Given the description of an element on the screen output the (x, y) to click on. 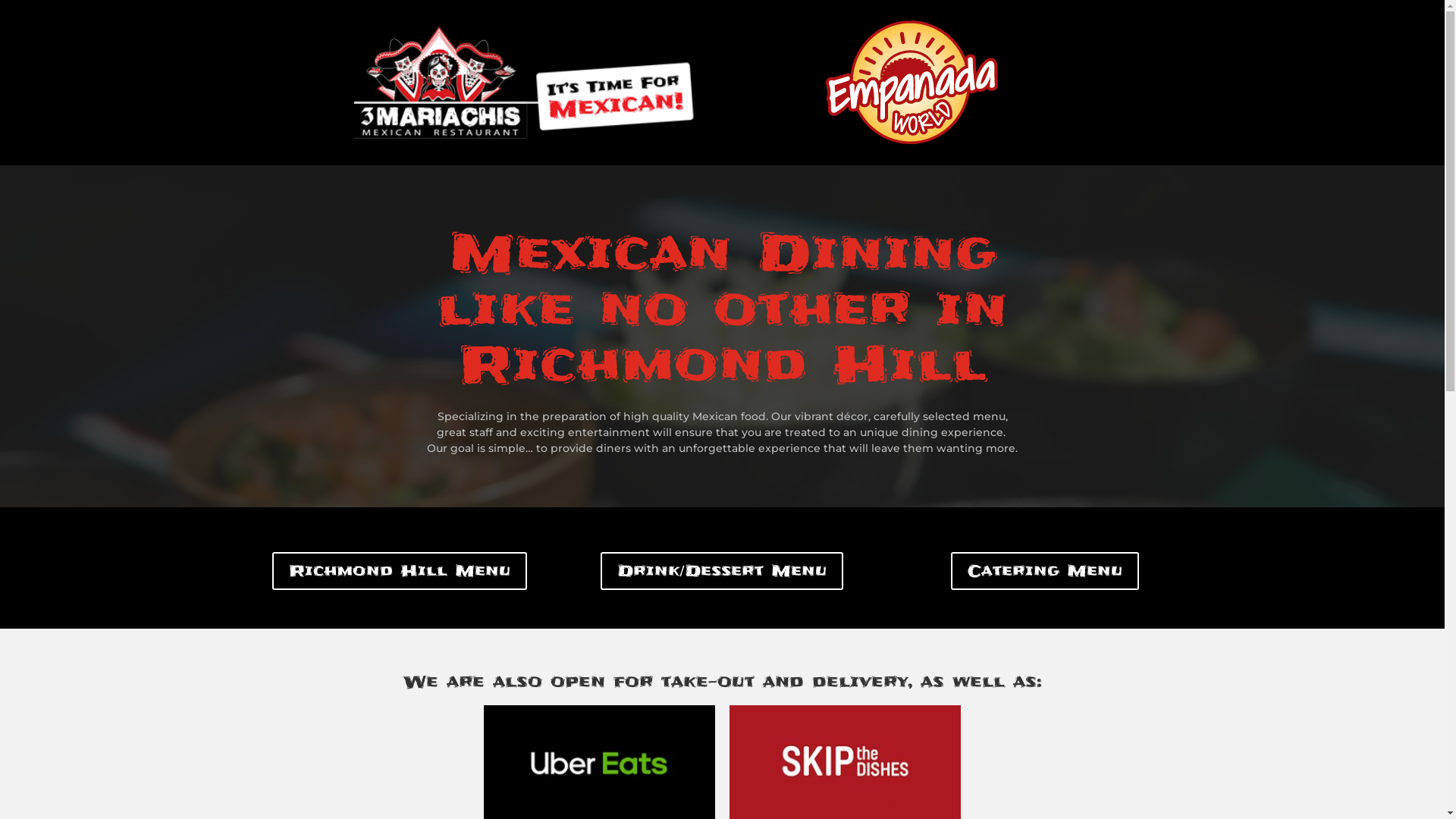
Richmond Hill Menu Element type: text (399, 570)
Empanada-Final-VER2 Element type: hover (911, 82)
400-3m-logo Element type: hover (532, 82)
Catering Menu Element type: text (1044, 570)
Drink/Dessert Menu Element type: text (721, 570)
